Given the description of an element on the screen output the (x, y) to click on. 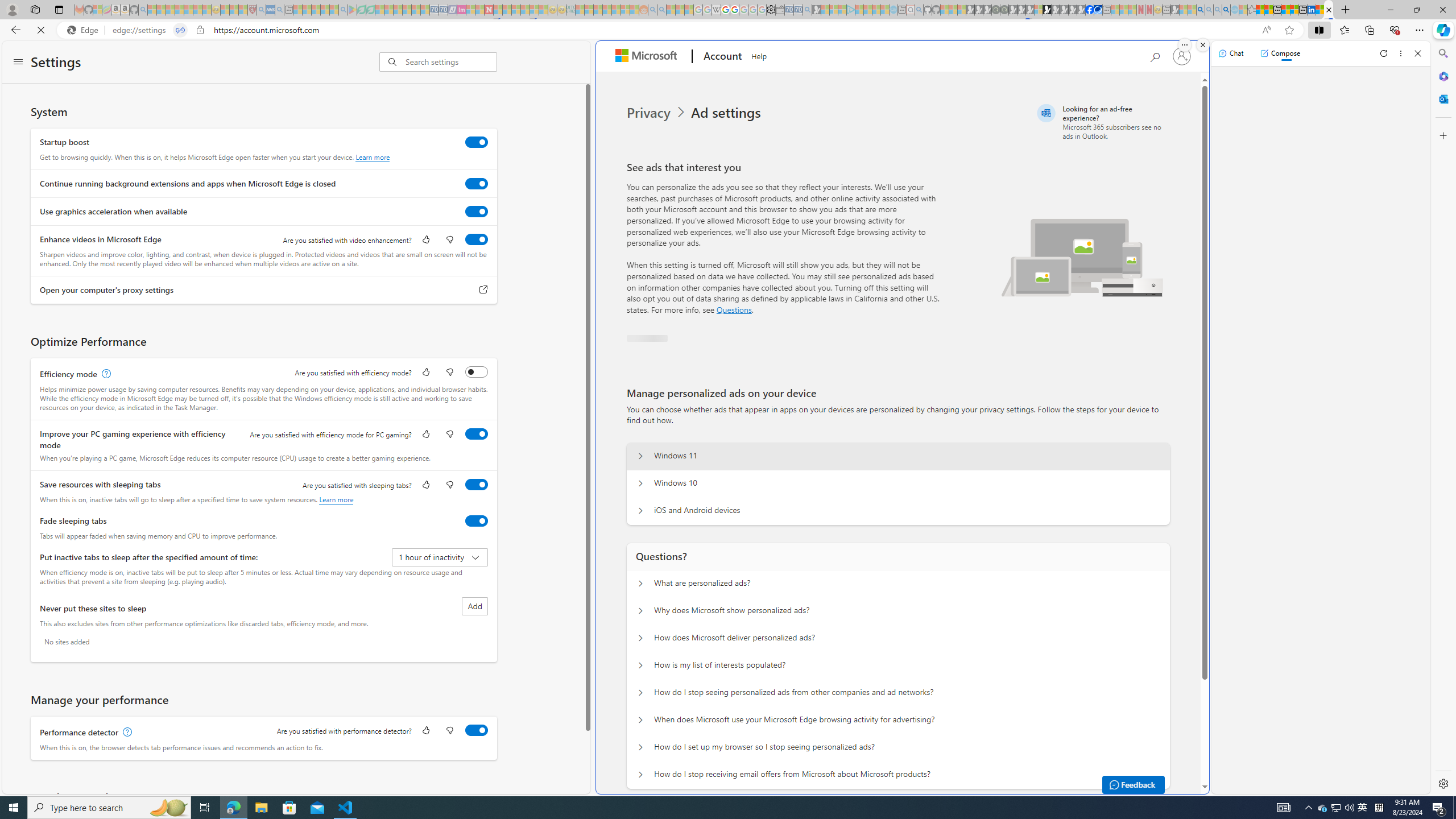
Chat (1230, 52)
Close split screen. (1202, 45)
Jobs - lastminute.com Investor Portal - Sleeping (461, 9)
Help (758, 54)
